Given the description of an element on the screen output the (x, y) to click on. 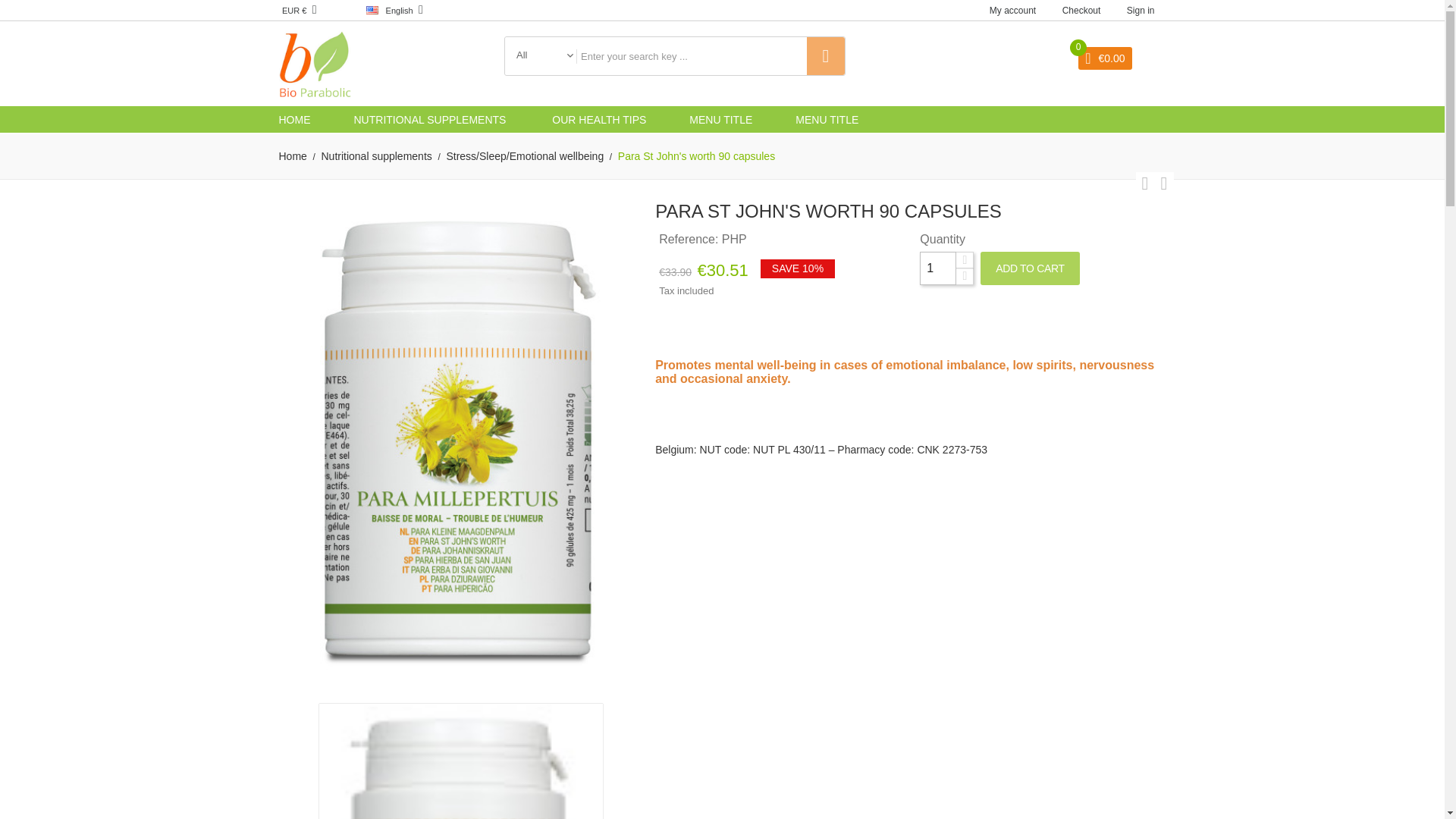
OUR HEALTH TIPS (598, 120)
NUTRITIONAL SUPPLEMENTS (430, 120)
HOME (295, 120)
Log in to your customer account (1140, 9)
Home (293, 156)
1 (938, 268)
My account (1012, 9)
MENU TITLE (826, 120)
MENU TITLE (720, 120)
Checkout (1081, 9)
Sign in (1140, 9)
English (383, 10)
